Given the description of an element on the screen output the (x, y) to click on. 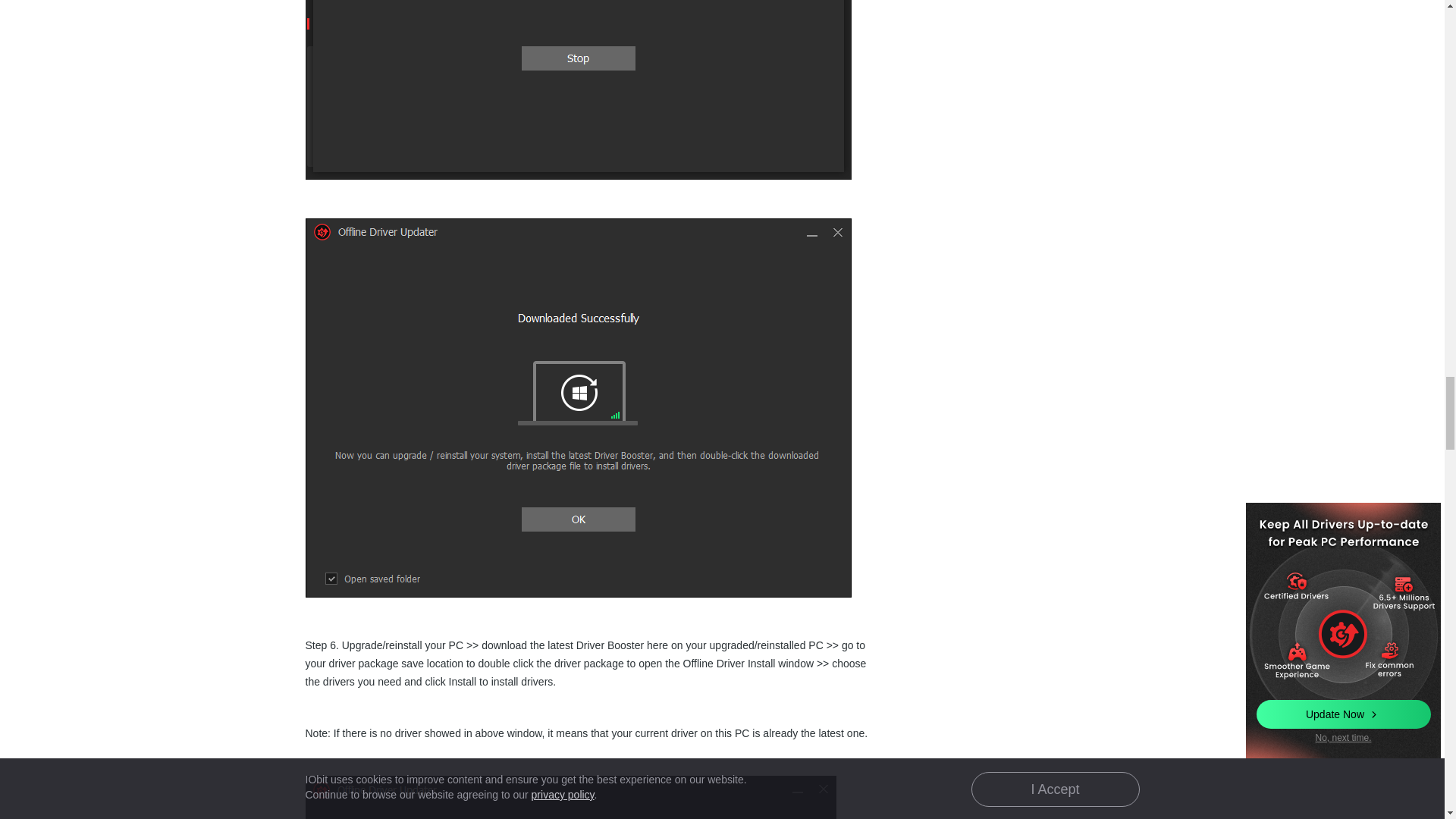
1594621711217268.png (577, 89)
1594621782527158.png (569, 797)
